Given the description of an element on the screen output the (x, y) to click on. 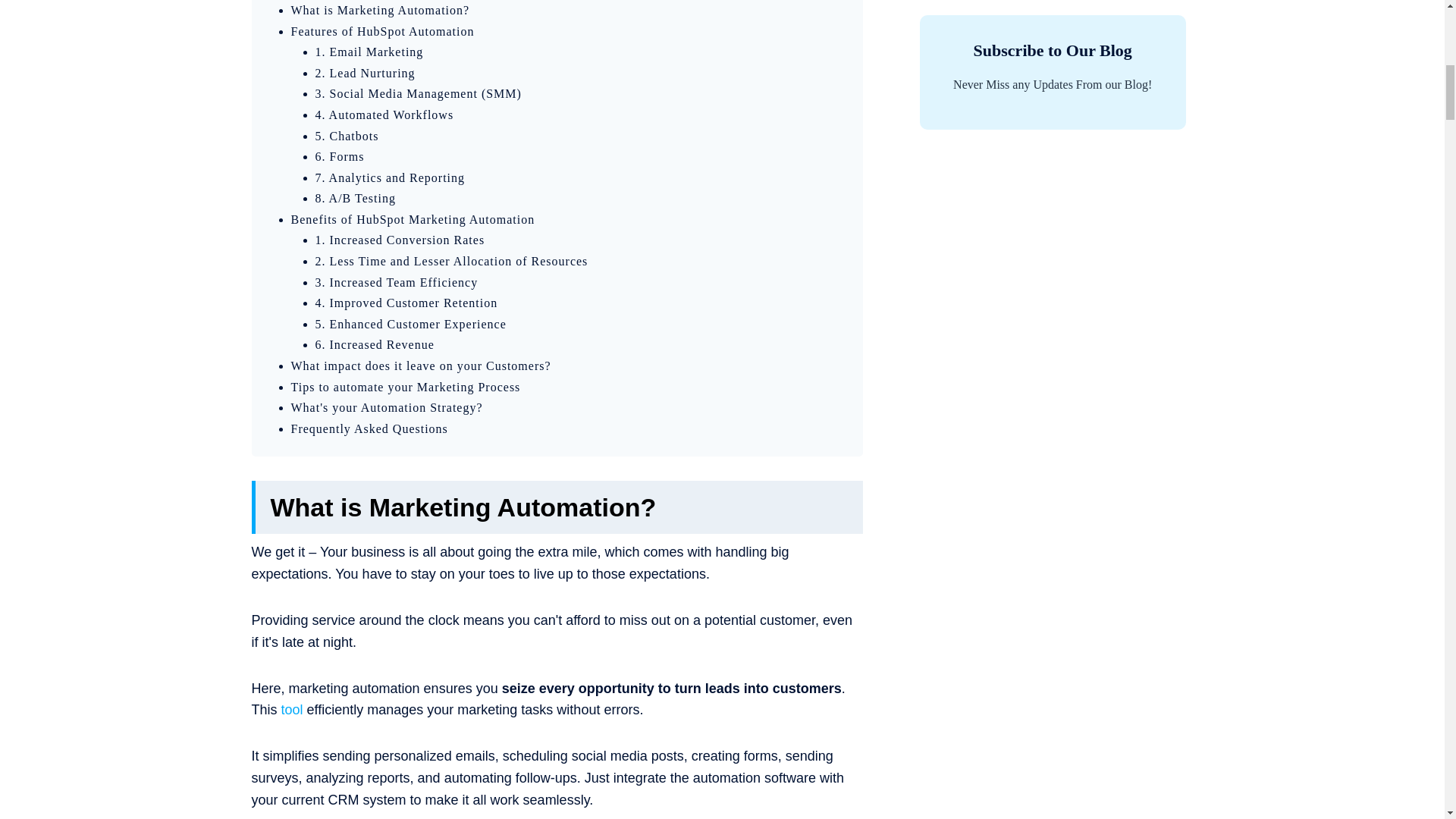
ShortlyAI (291, 709)
